Given the description of an element on the screen output the (x, y) to click on. 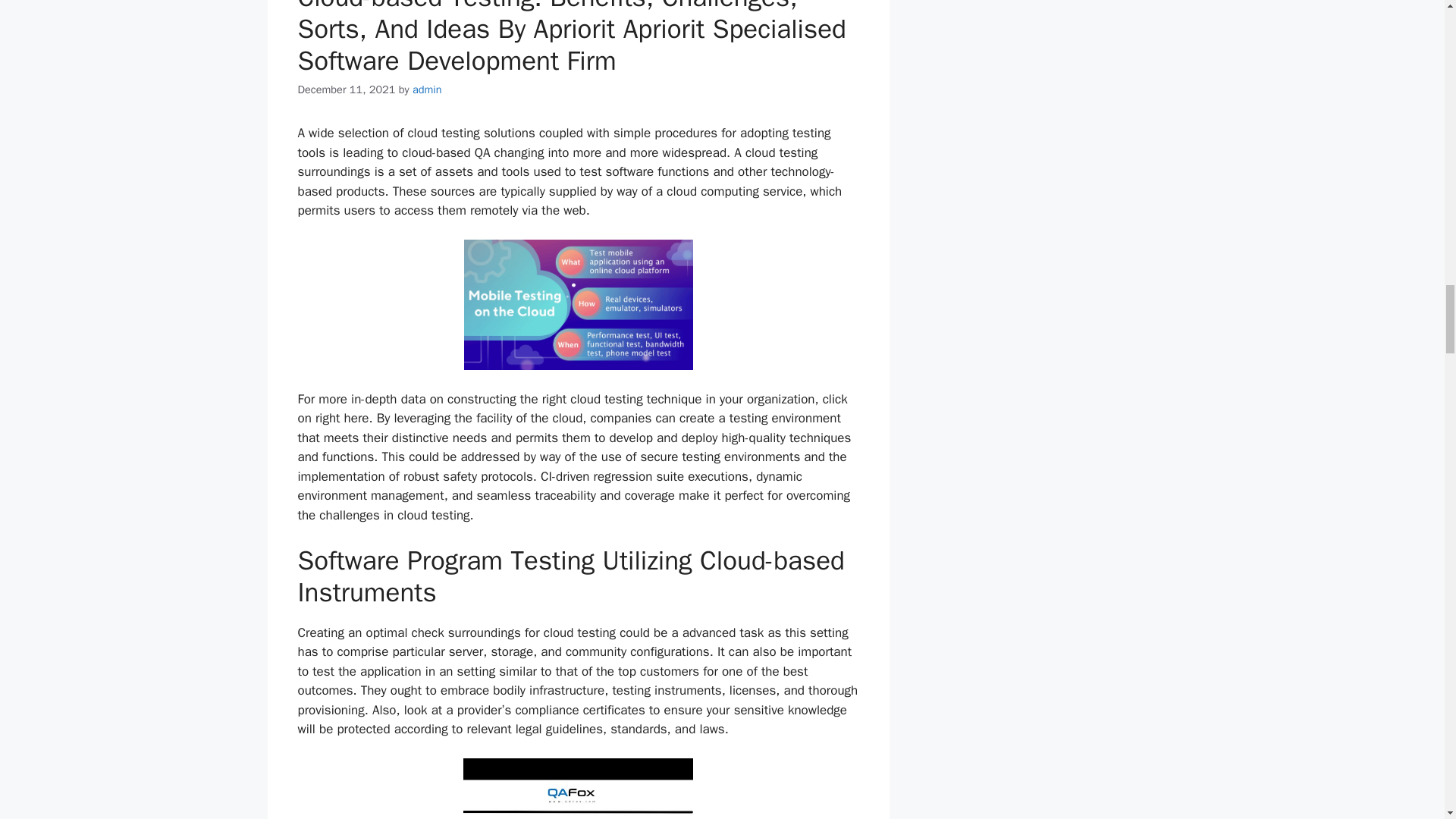
admin (427, 89)
View all posts by admin (427, 89)
